Given the description of an element on the screen output the (x, y) to click on. 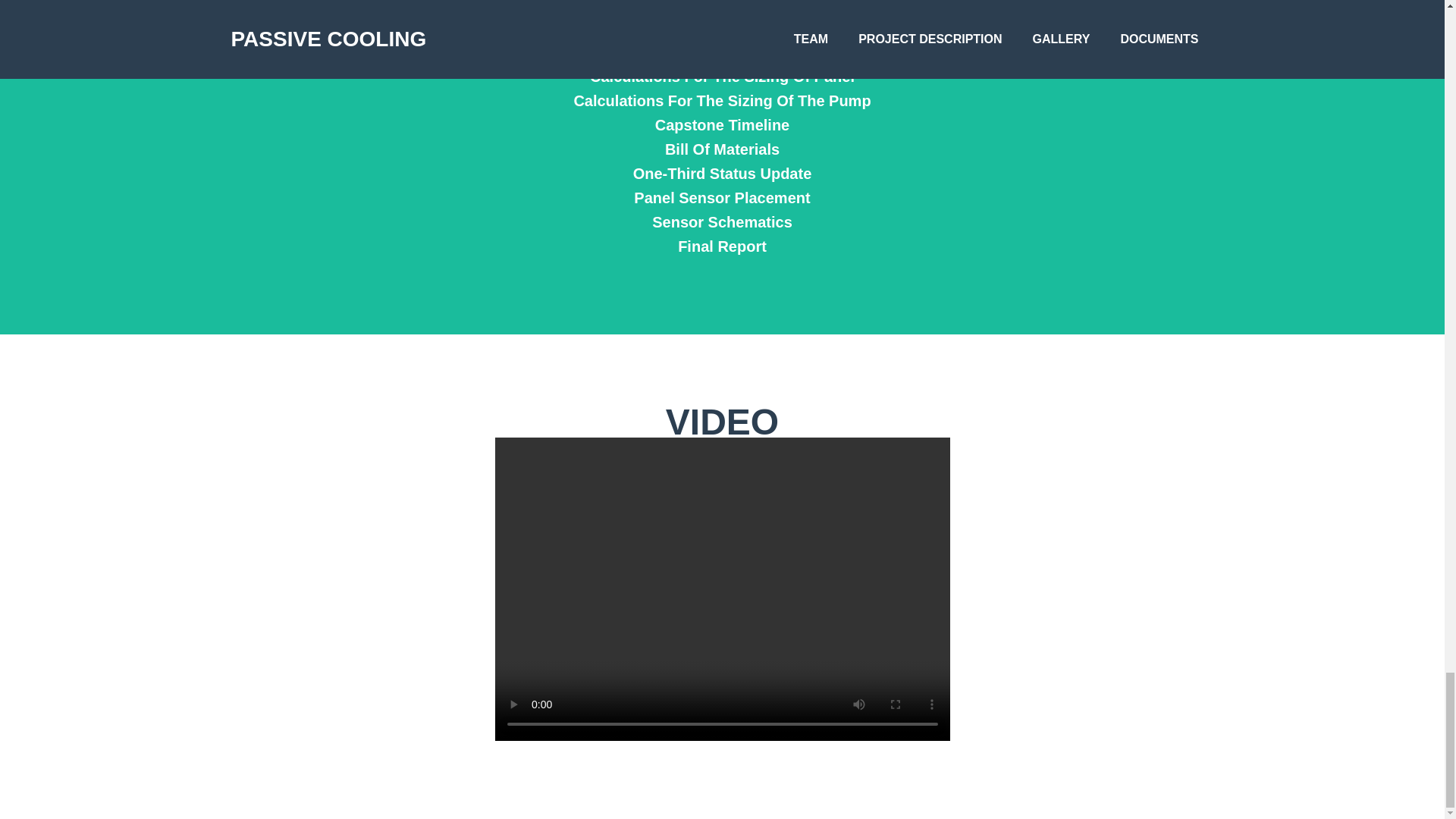
Final Report (721, 246)
Calculations For The Sizing Of Panel (721, 76)
CAD MODELS (721, 52)
Bill Of Materials (721, 149)
Calculations For The Sizing Of The Pump (721, 100)
Sensor Schematics (721, 221)
One-Third Status Update (721, 173)
Capstone Timeline (721, 125)
Panel Sensor Placement (721, 198)
